Given the description of an element on the screen output the (x, y) to click on. 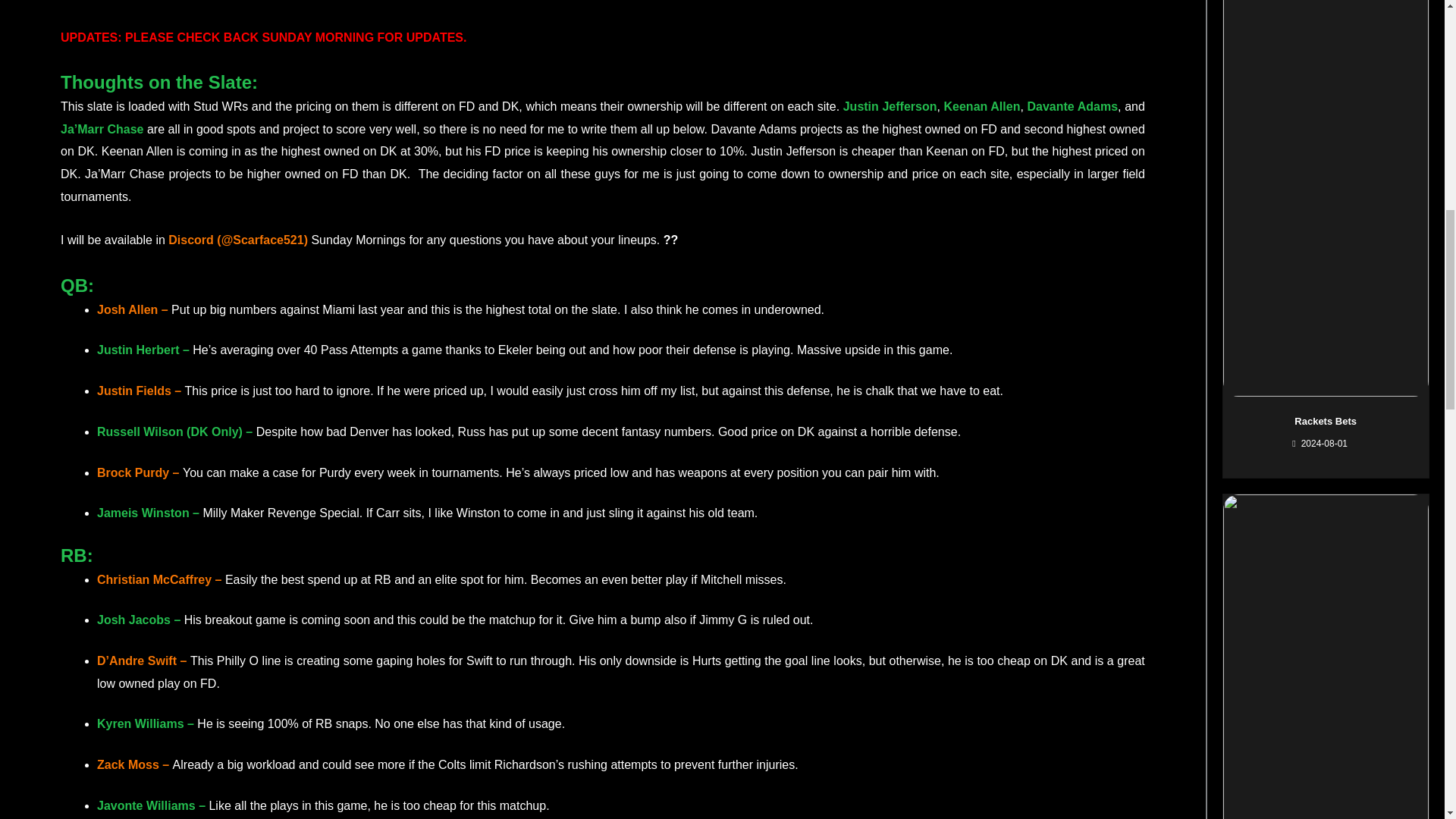
Rackets Bets (1325, 420)
